Given the description of an element on the screen output the (x, y) to click on. 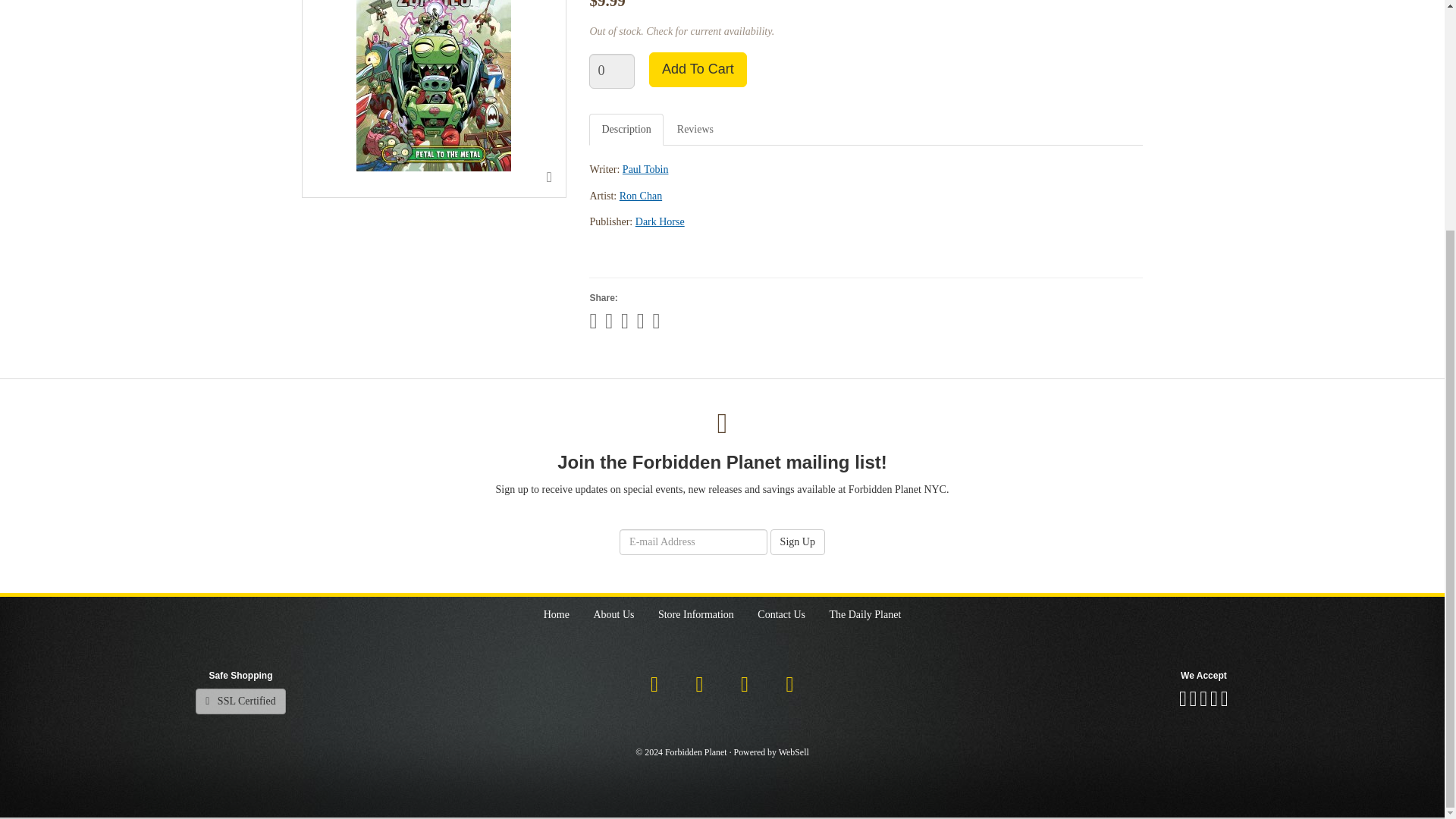
Plants Vs Zombies Petal to the Metal HC (433, 85)
0 (611, 71)
